Given the description of an element on the screen output the (x, y) to click on. 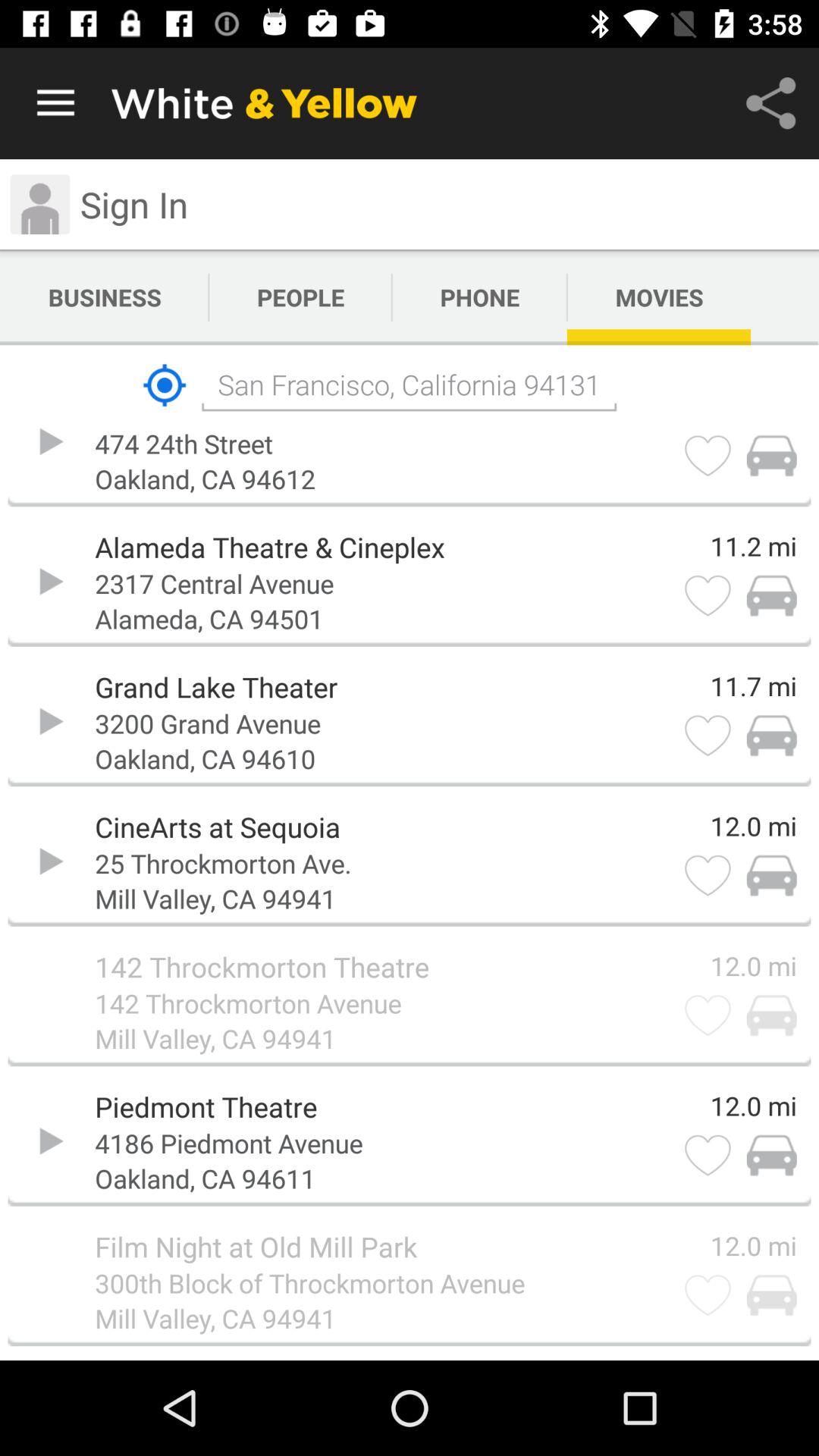
jump until san francisco california (408, 385)
